Given the description of an element on the screen output the (x, y) to click on. 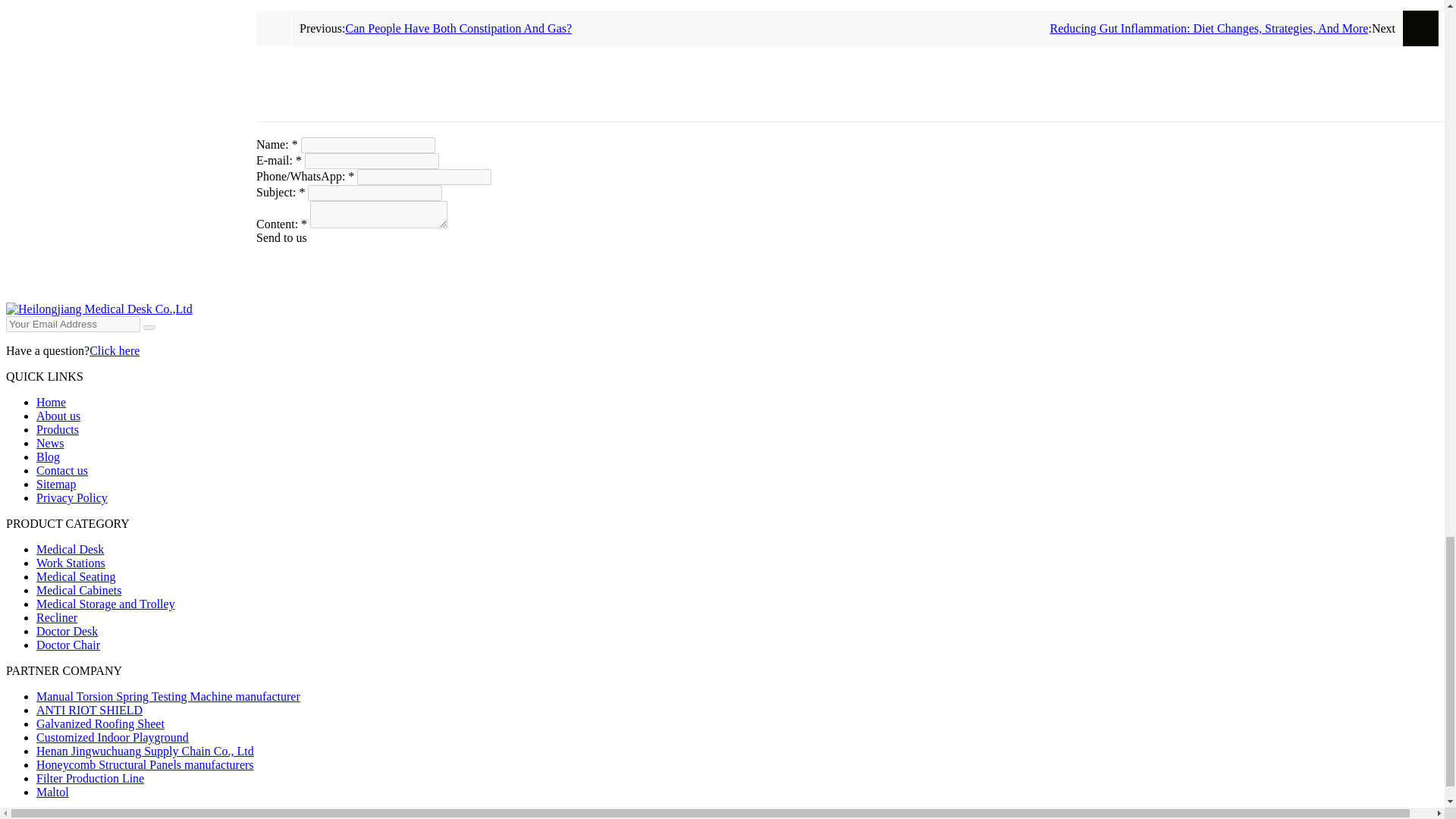
Can People Have Both Constipation And Gas? (596, 29)
Email (148, 327)
Heilongjiang Medical Desk Co.,Ltd (98, 308)
Click here (113, 350)
